Given the description of an element on the screen output the (x, y) to click on. 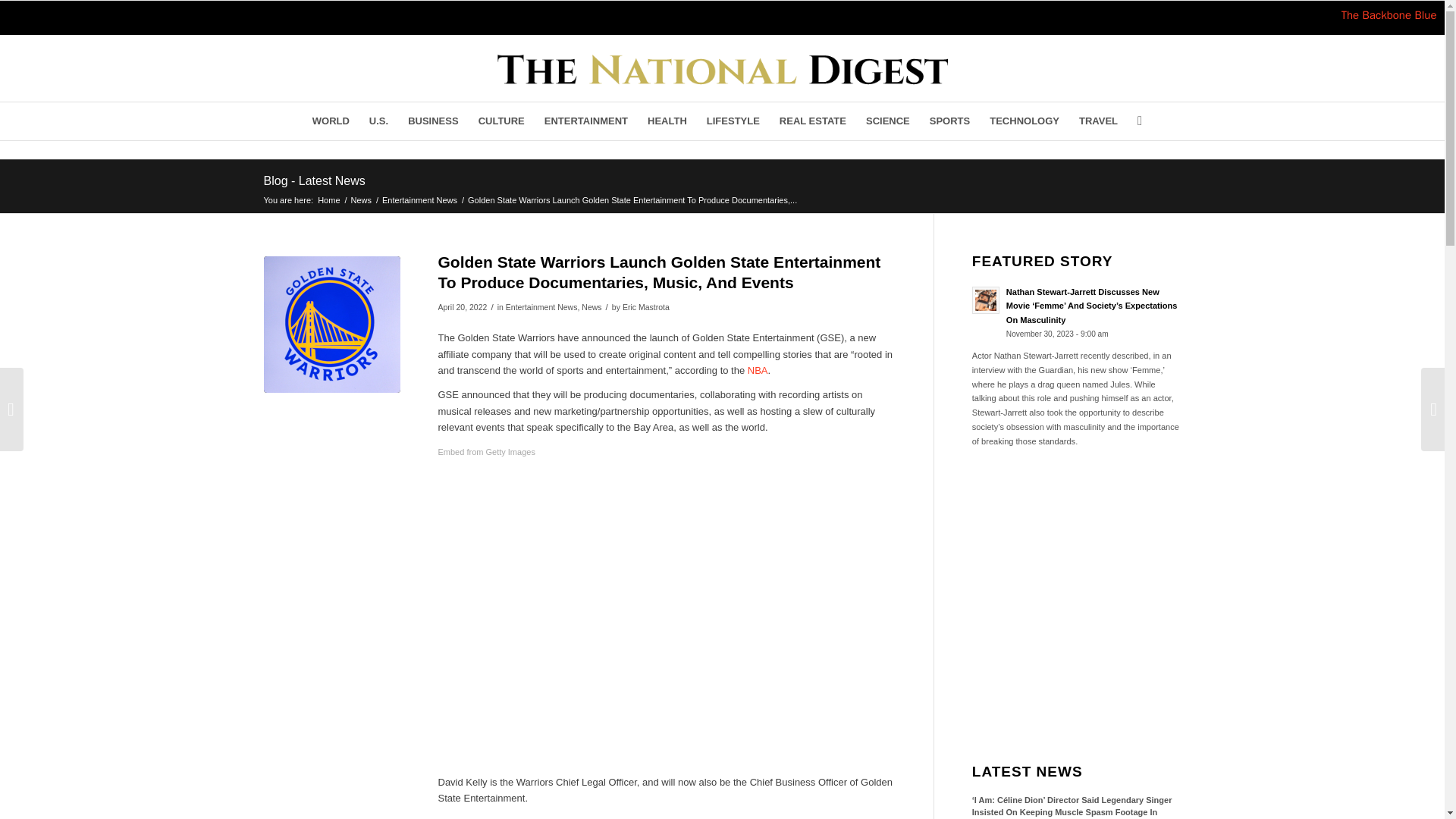
Posts by Eric Mastrota (646, 307)
SPORTS (949, 121)
The National Digest (328, 199)
Eric Mastrota (646, 307)
TECHNOLOGY (1023, 121)
Permanent Link: Blog - Latest News (314, 180)
Home (328, 199)
CULTURE (501, 121)
News (590, 307)
Embed from Getty Images (486, 452)
